Given the description of an element on the screen output the (x, y) to click on. 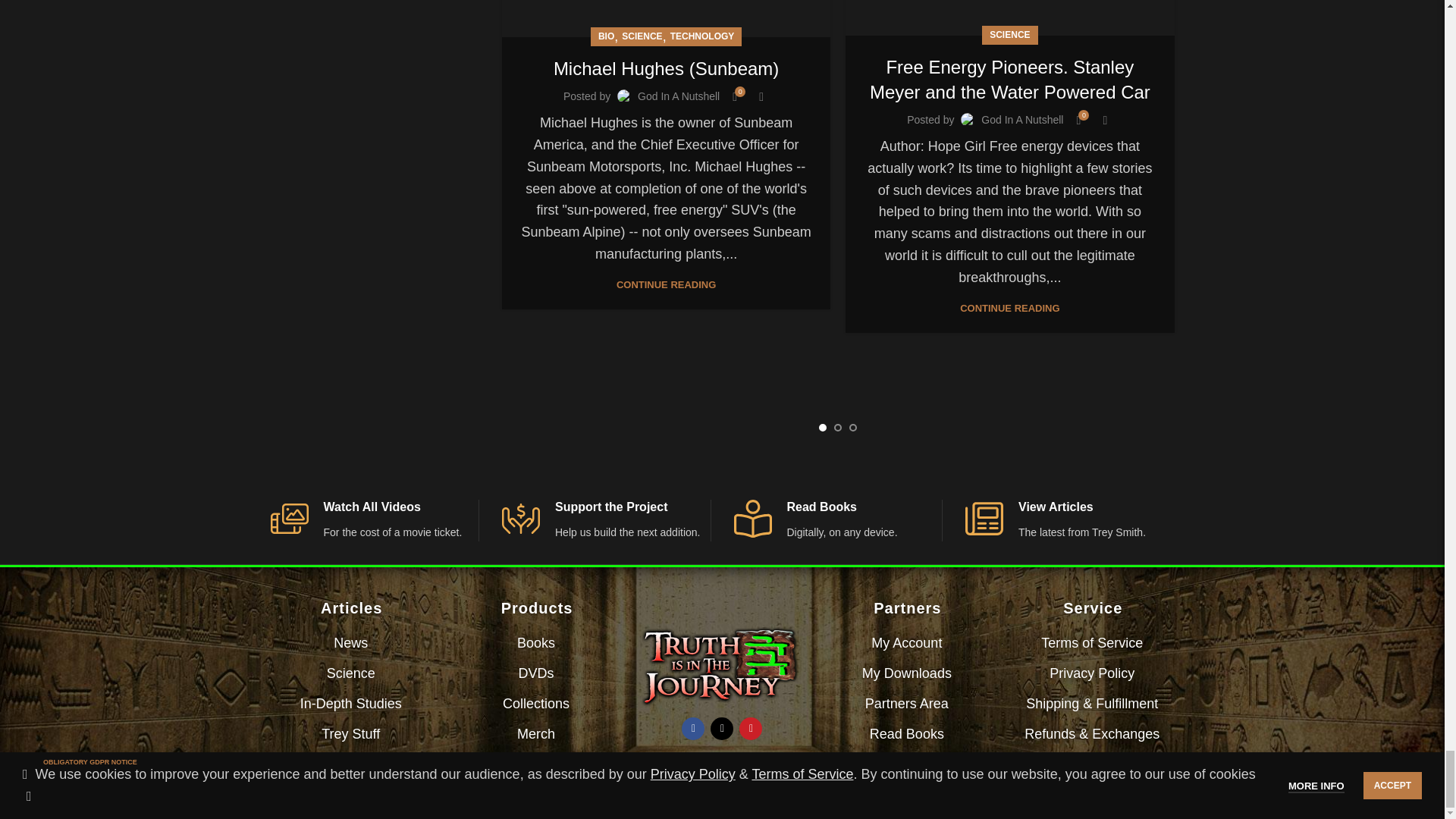
GIN-Logo-v1 (721, 664)
